Given the description of an element on the screen output the (x, y) to click on. 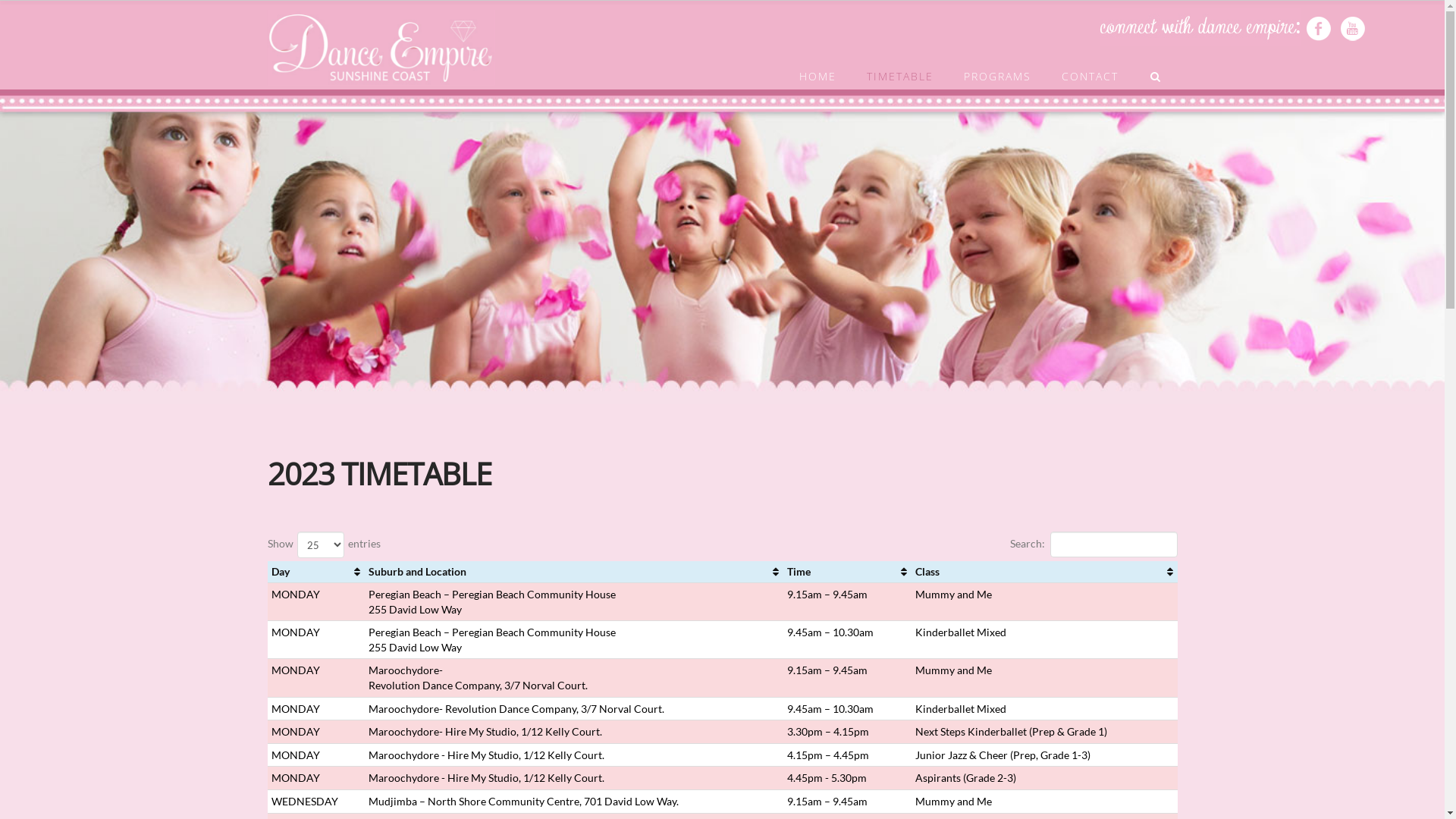
Sunshine Coast Element type: hover (380, 47)
TIMETABLE Element type: text (899, 63)
CONTACT Element type: text (1089, 63)
  Element type: text (1318, 28)
PROGRAMS Element type: text (997, 63)
  Element type: text (1352, 28)
HOME Element type: text (817, 63)
